Given the description of an element on the screen output the (x, y) to click on. 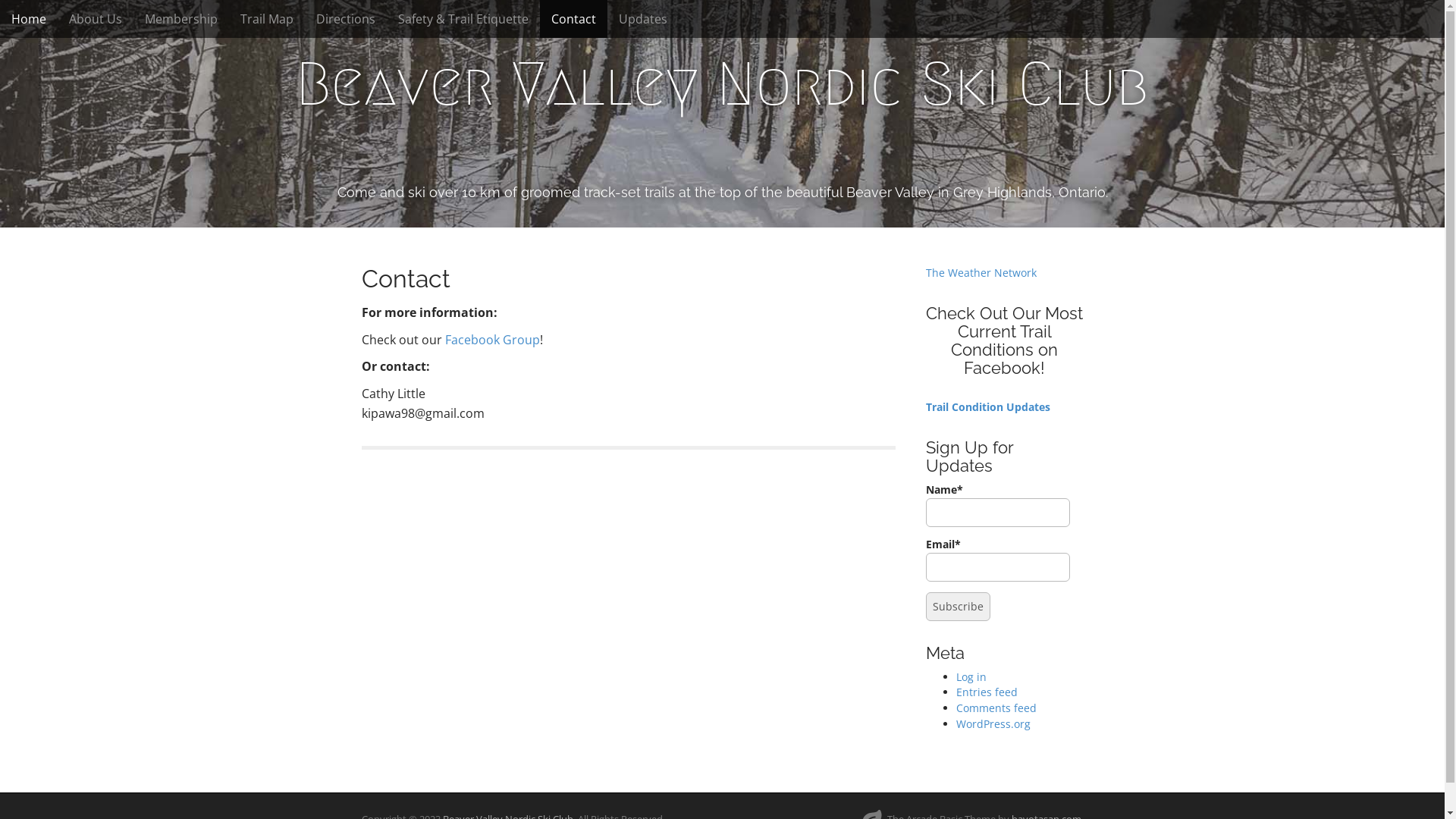
Trail Condition Updates Element type: text (987, 406)
Contact Element type: text (573, 18)
About Us Element type: text (95, 18)
The Weather Network Element type: text (980, 272)
Entries feed Element type: text (985, 691)
Check Out Our Most Current Trail Conditions on Facebook! Element type: text (1003, 340)
Home Element type: text (28, 18)
Beaver Valley Nordic Ski Club Element type: text (722, 83)
Comments feed Element type: text (995, 707)
Log in Element type: text (970, 676)
Membership Element type: text (181, 18)
Directions Element type: text (345, 18)
WordPress.org Element type: text (992, 723)
Facebook Group Element type: text (491, 339)
Trail Map Element type: text (266, 18)
Updates Element type: text (642, 18)
Subscribe Element type: text (957, 606)
Safety & Trail Etiquette Element type: text (462, 18)
